Given the description of an element on the screen output the (x, y) to click on. 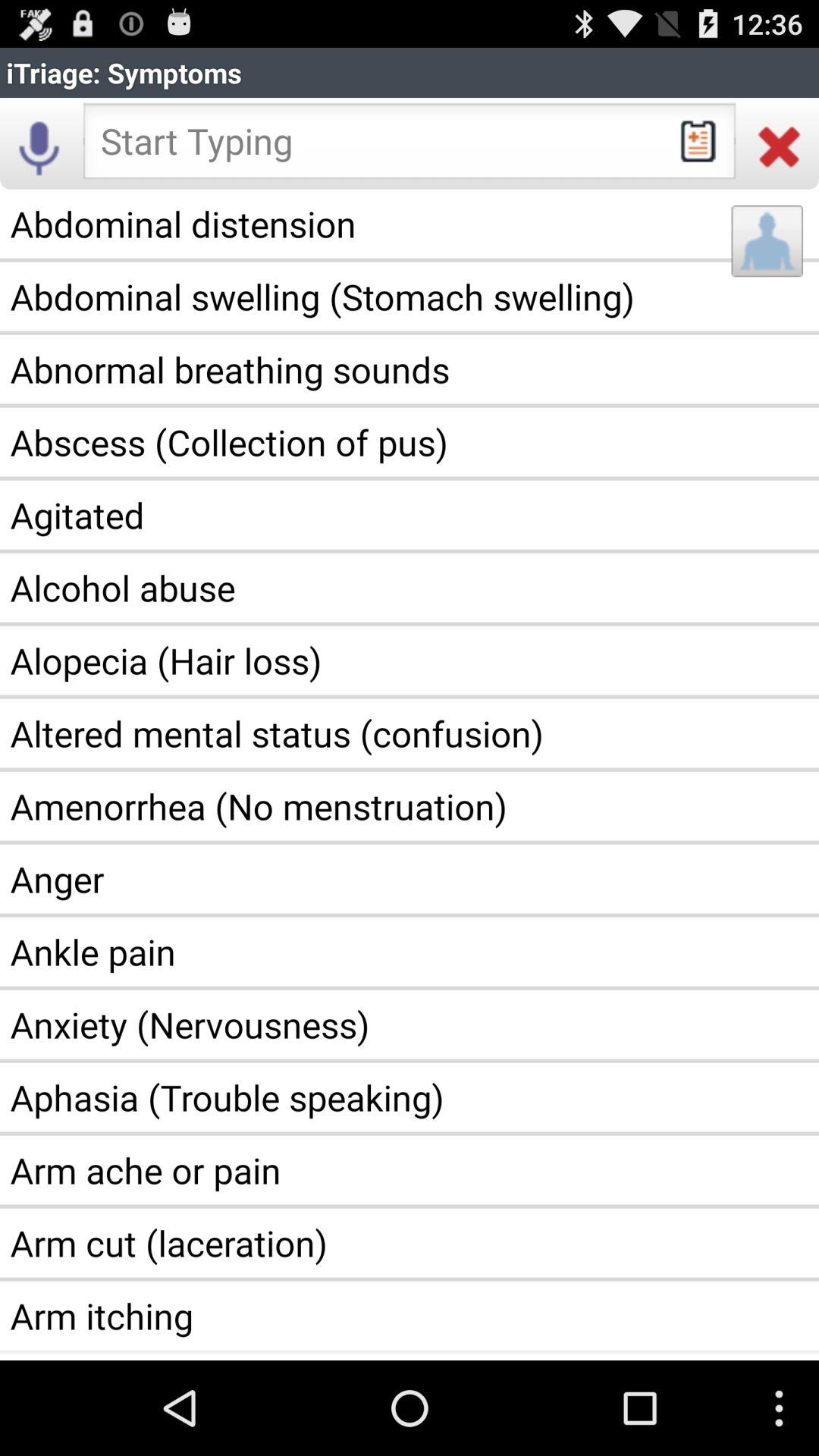
open the item below itriage: symptoms (39, 145)
